Given the description of an element on the screen output the (x, y) to click on. 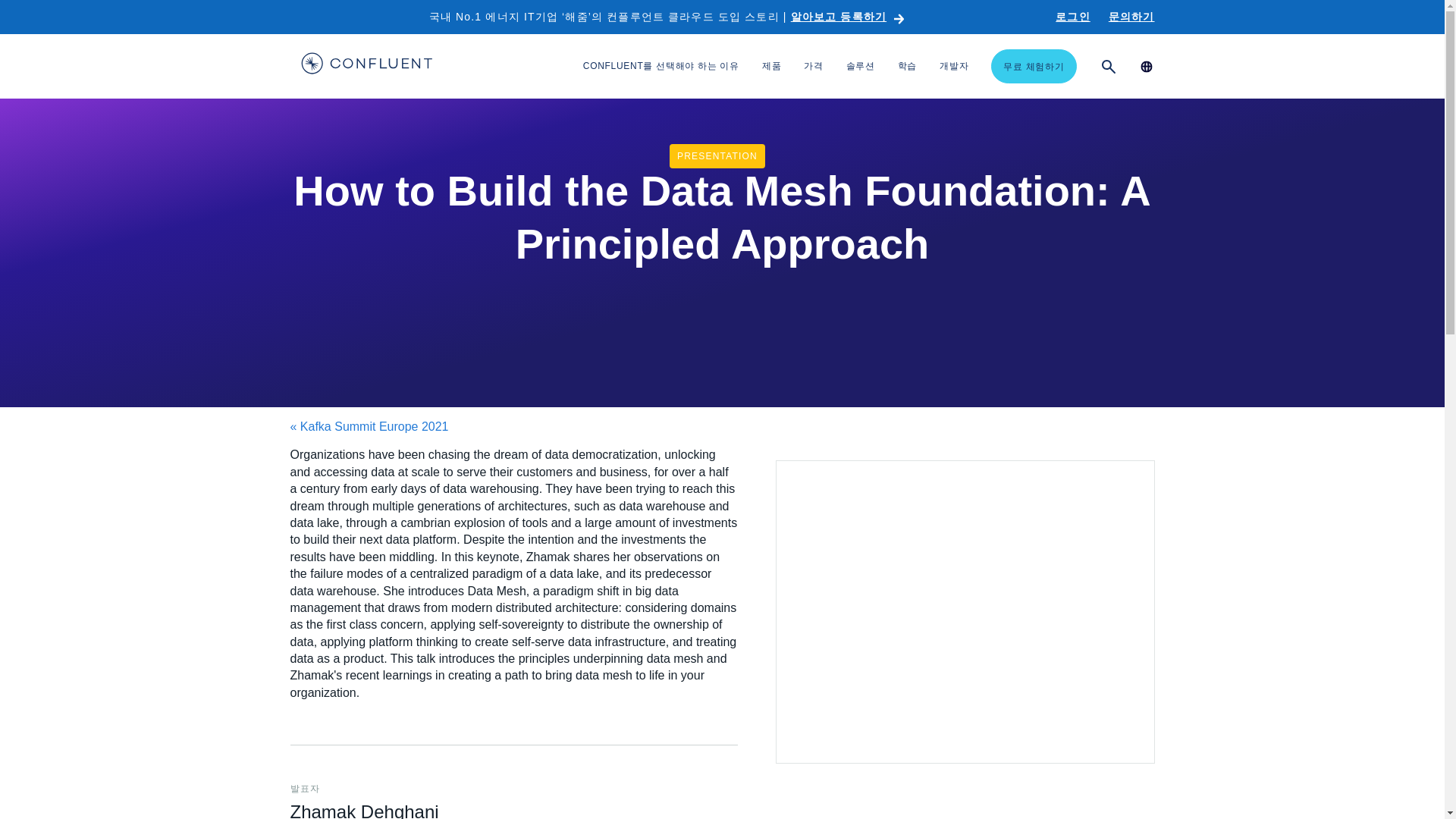
Confluent (365, 65)
